Given the description of an element on the screen output the (x, y) to click on. 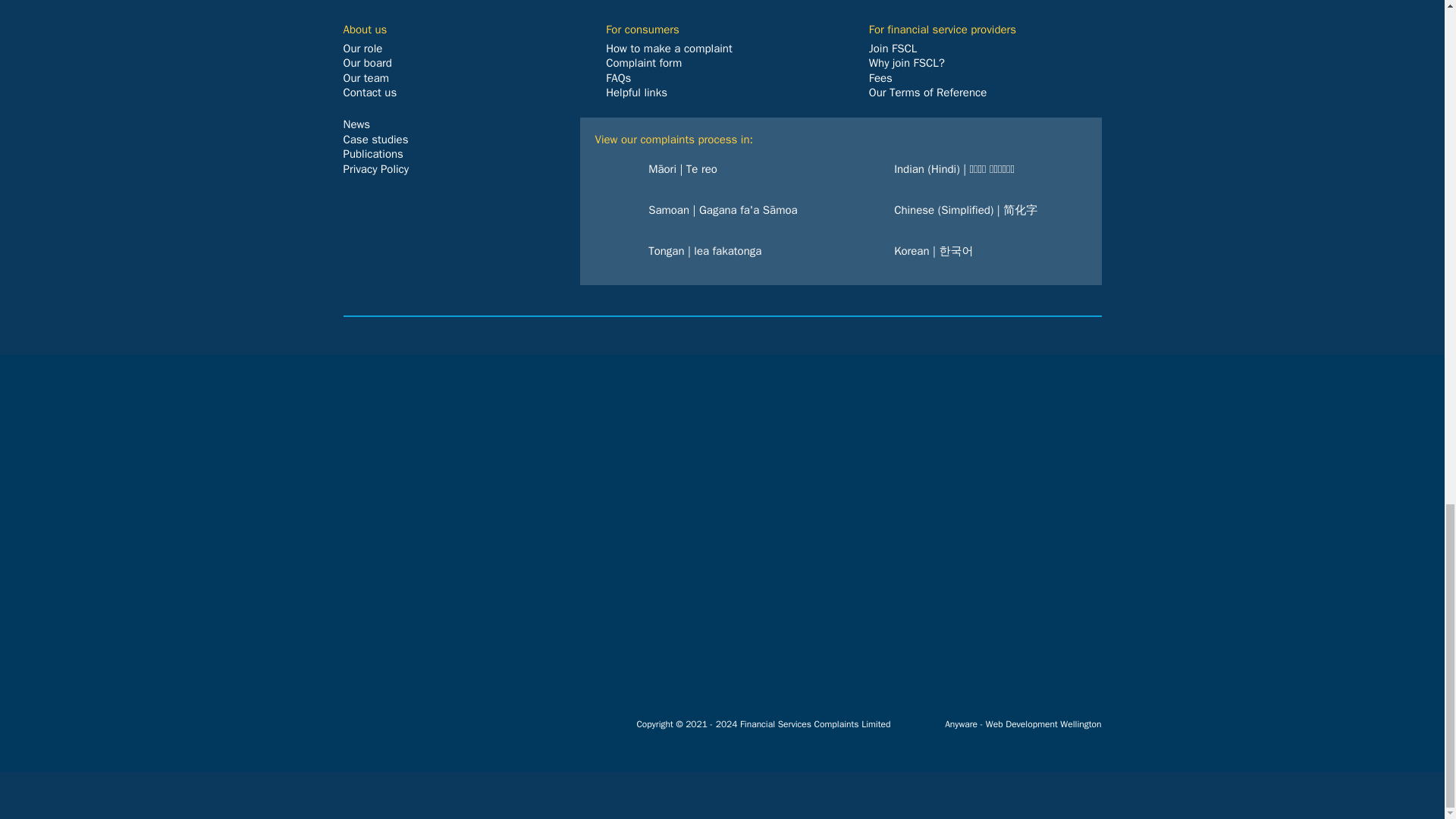
Our board (366, 62)
Scroll back to top (1406, 205)
Our role (361, 48)
